Given the description of an element on the screen output the (x, y) to click on. 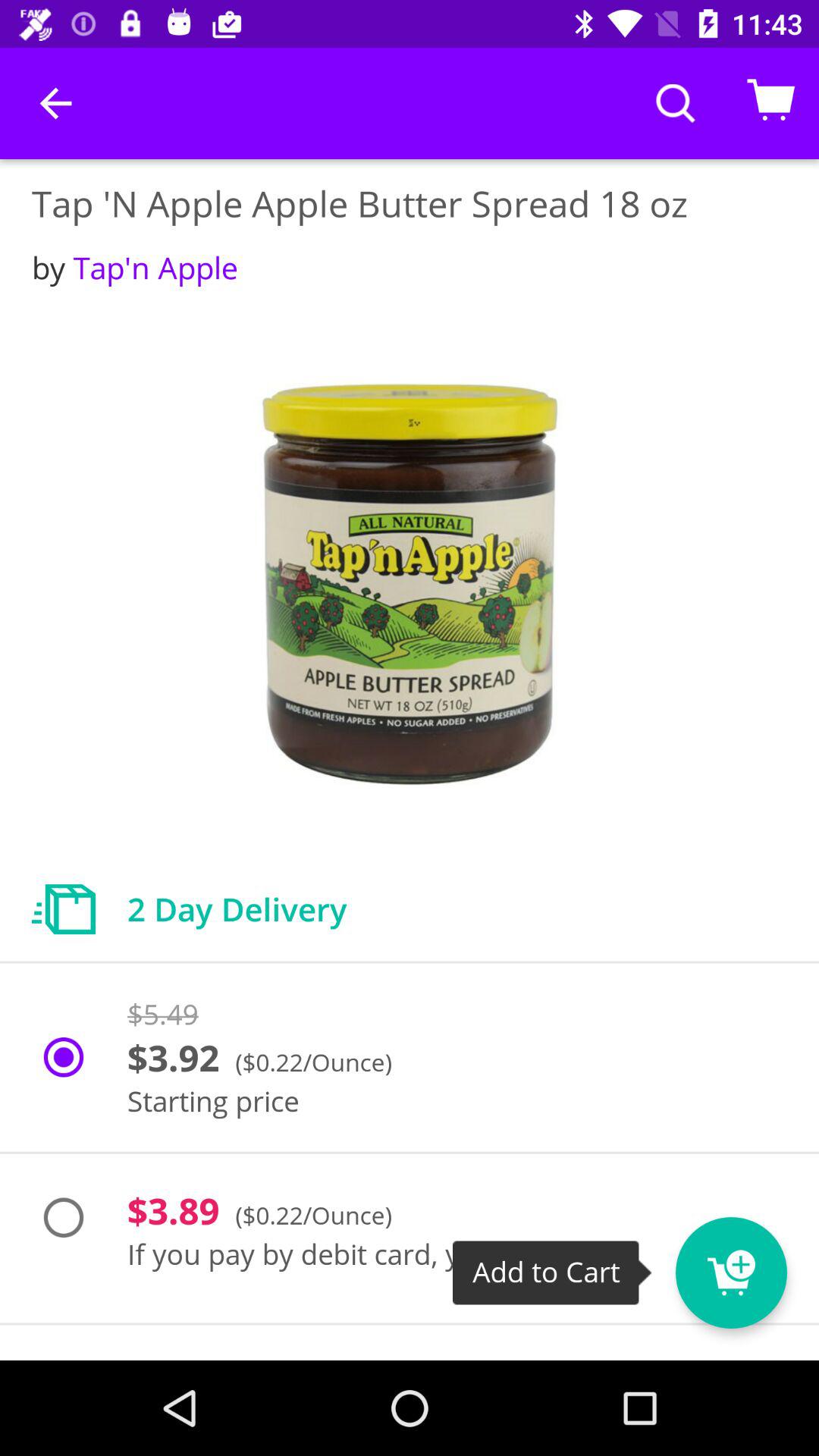
flip until by tap n icon (134, 267)
